Given the description of an element on the screen output the (x, y) to click on. 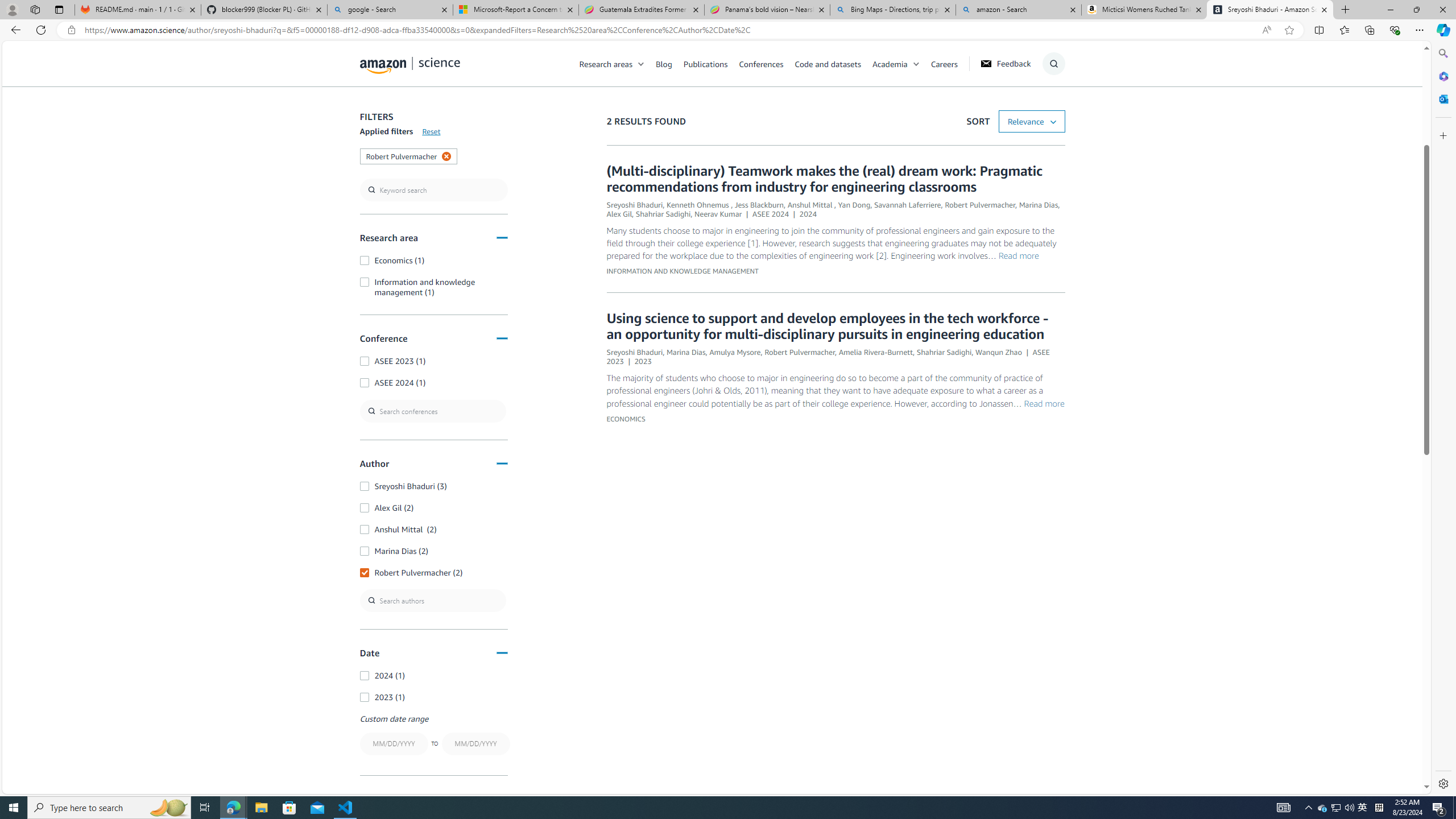
amazon - Search (1018, 9)
Show Search Form (1053, 63)
